Given the description of an element on the screen output the (x, y) to click on. 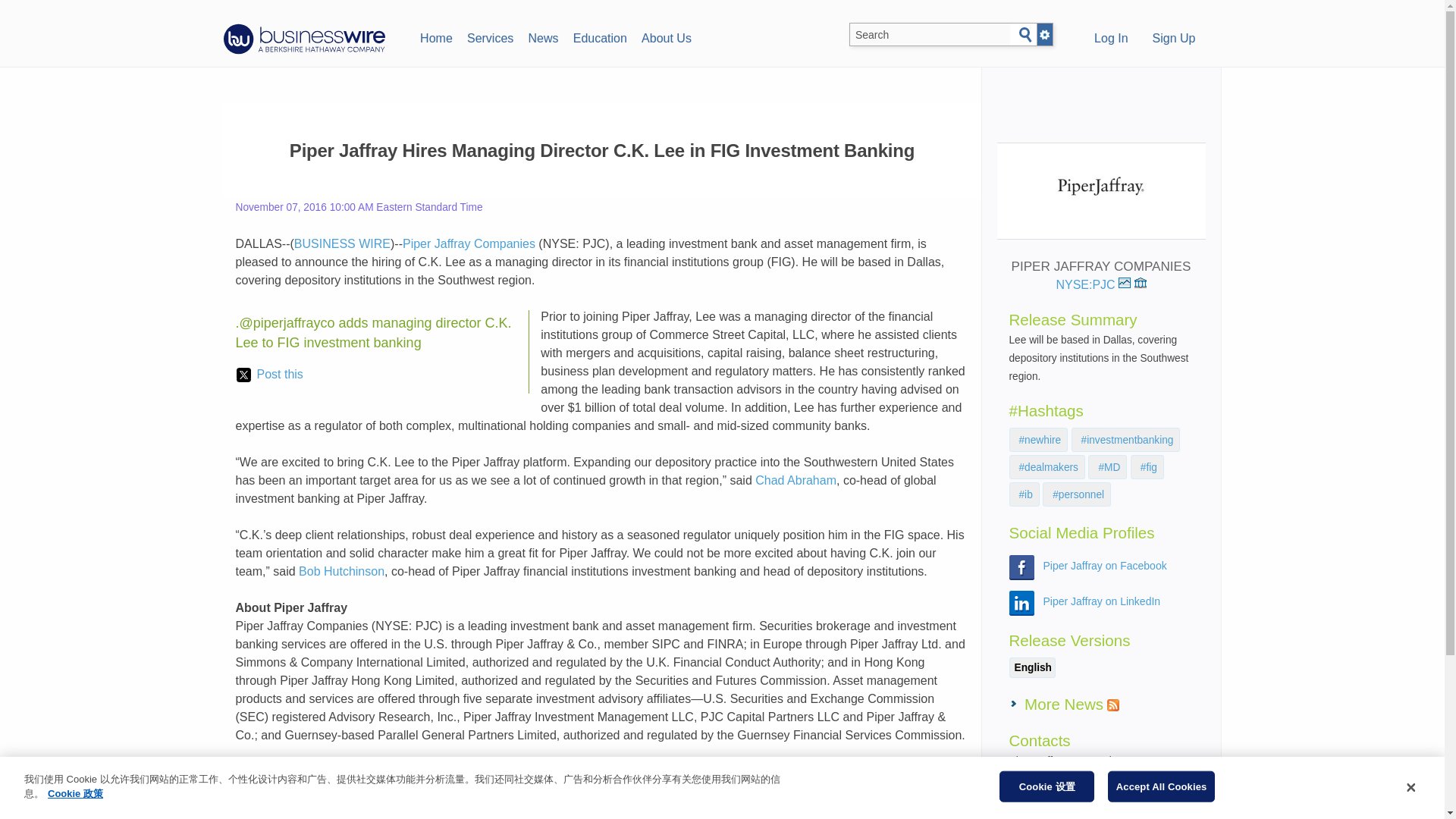
Piper Jaffray on LinkedIn (1101, 601)
Education (599, 36)
Search BusinessWire.com (930, 34)
Piper Jaffray on Facebook (1105, 565)
Bob Hutchinson (341, 571)
BUSINESS WIRE (342, 243)
Twitter (484, 807)
Home (436, 36)
NYSE:PJC (1093, 284)
RSS feed for Piper Jaffray Companies (1112, 705)
